Given the description of an element on the screen output the (x, y) to click on. 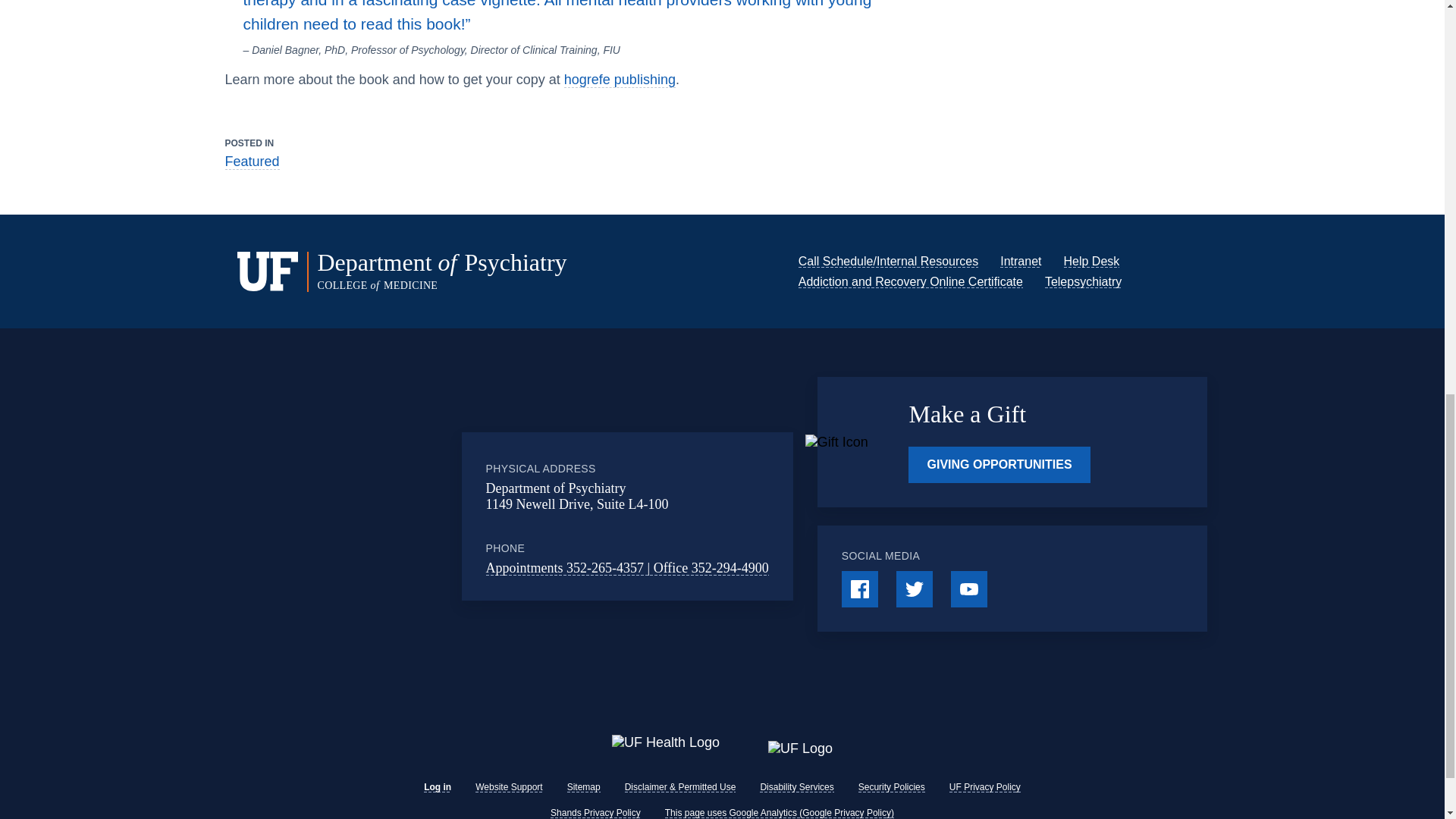
Sitemap (583, 787)
Disability Services (796, 787)
Google Maps Embed (396, 516)
Addiction and Recovery Online Certificate (910, 281)
UF Privacy Policy (984, 787)
Security Policies (891, 787)
Telepsychiatry (1083, 281)
Intranet (1020, 260)
Log in (437, 787)
Help Desk (1090, 260)
